Given the description of an element on the screen output the (x, y) to click on. 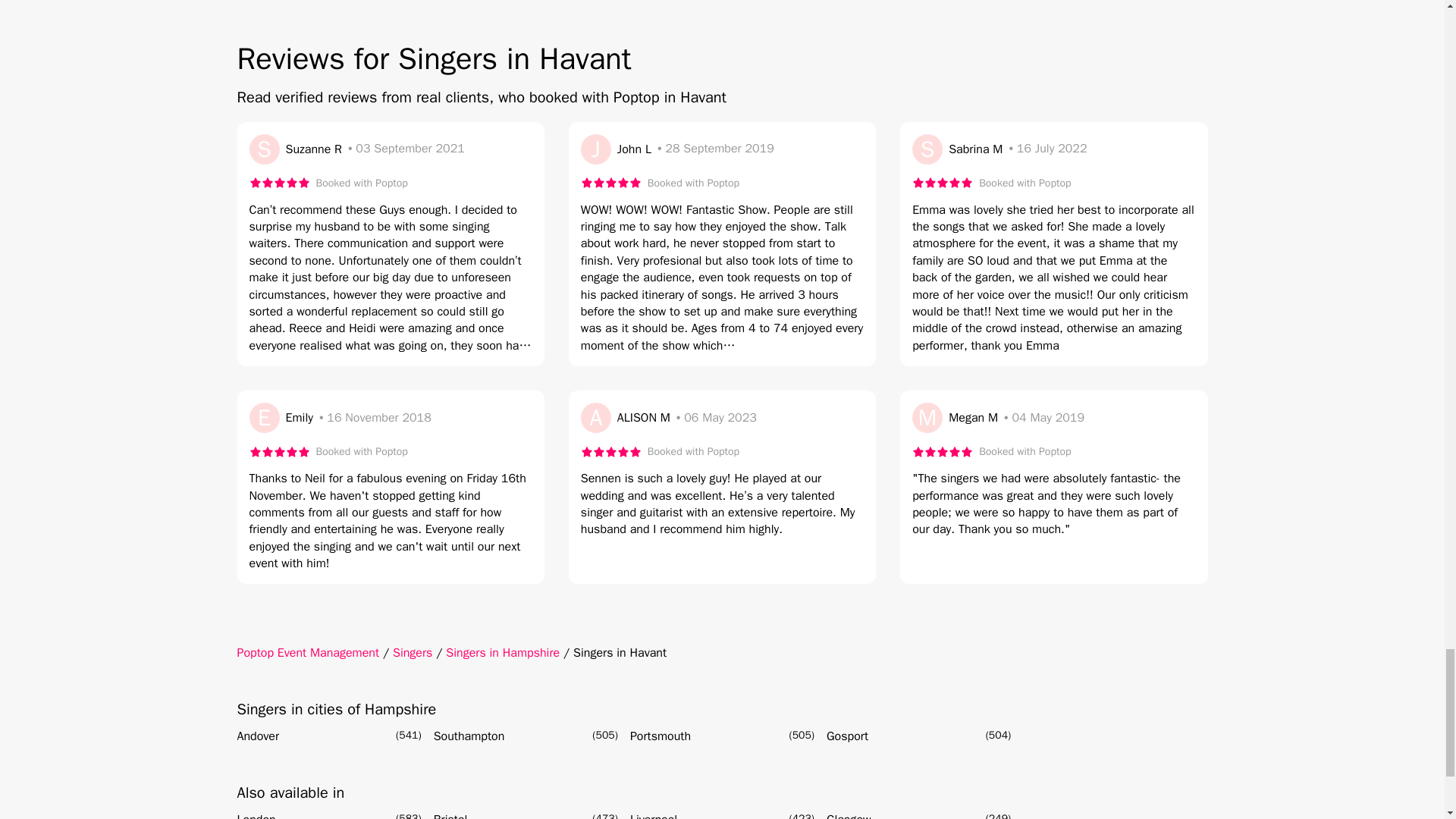
Andover (257, 736)
Bristol (450, 814)
Poptop Event Management (306, 652)
Southampton (469, 736)
Liverpool (653, 814)
London (255, 814)
Singers in Hampshire (502, 652)
Glasgow (848, 814)
Singers (412, 652)
Gosport (847, 736)
Portsmouth (660, 736)
